Given the description of an element on the screen output the (x, y) to click on. 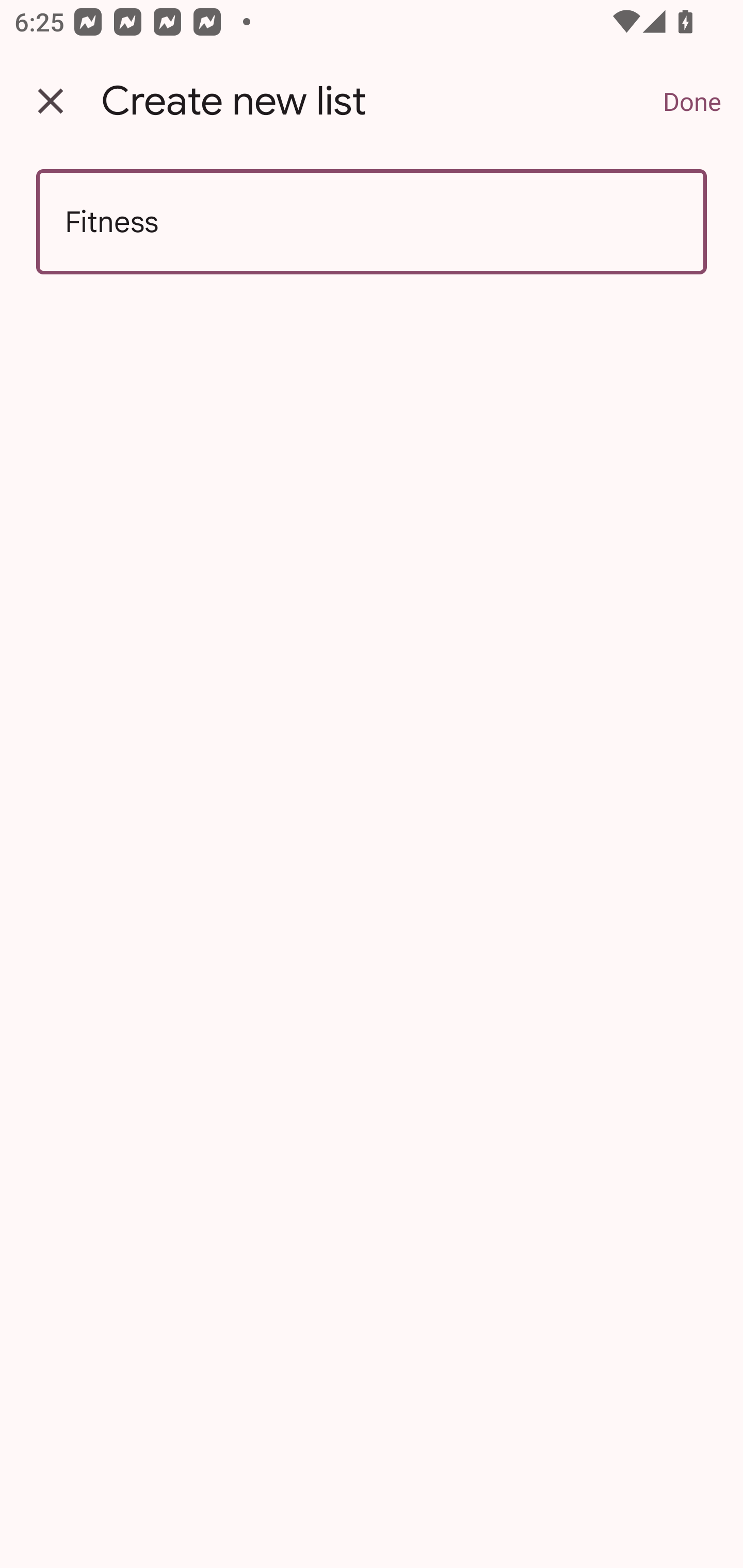
Back (50, 101)
Done (692, 101)
Fitness (371, 221)
